Given the description of an element on the screen output the (x, y) to click on. 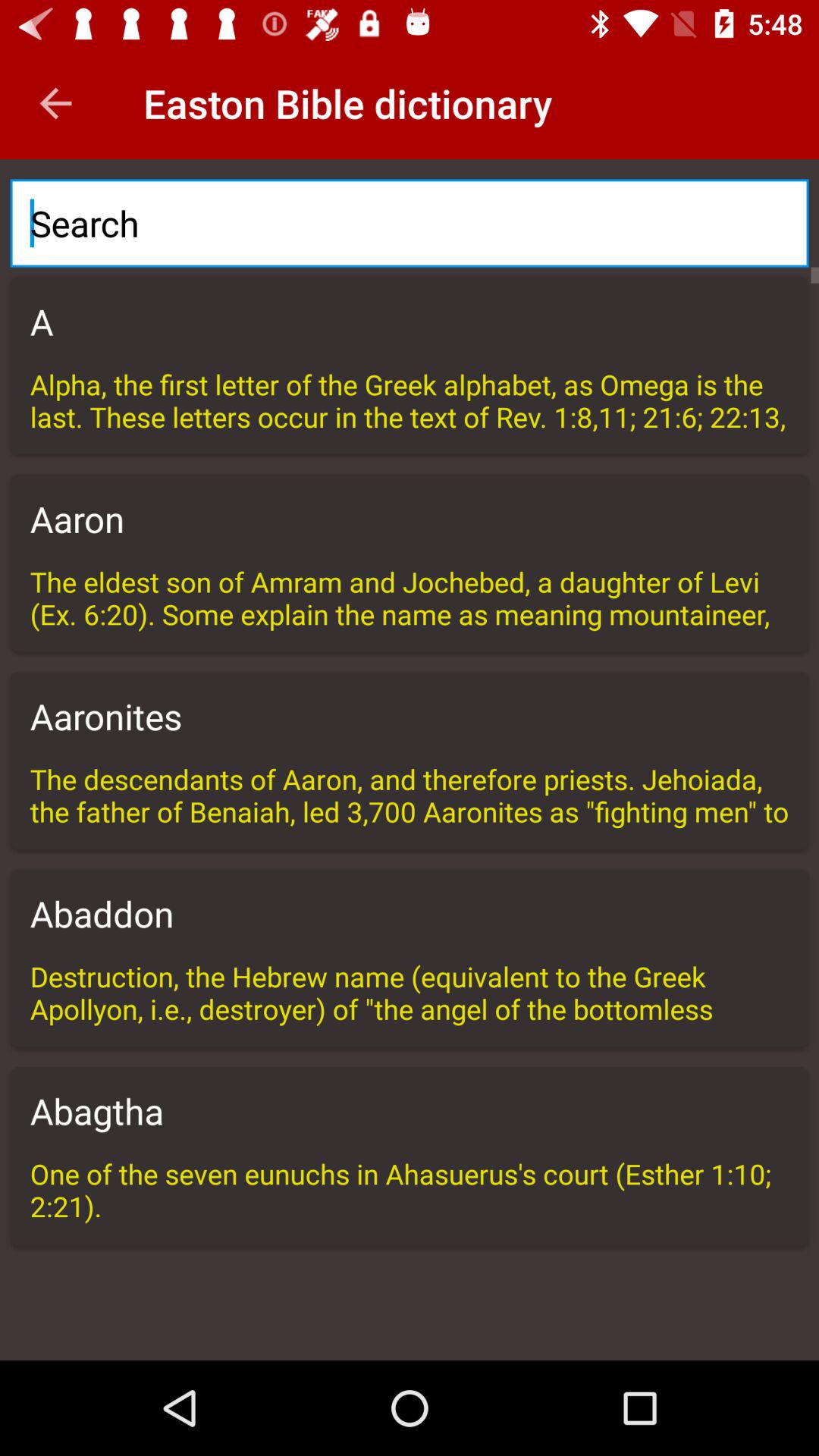
select the icon to the left of the easton bible dictionary item (55, 103)
